Given the description of an element on the screen output the (x, y) to click on. 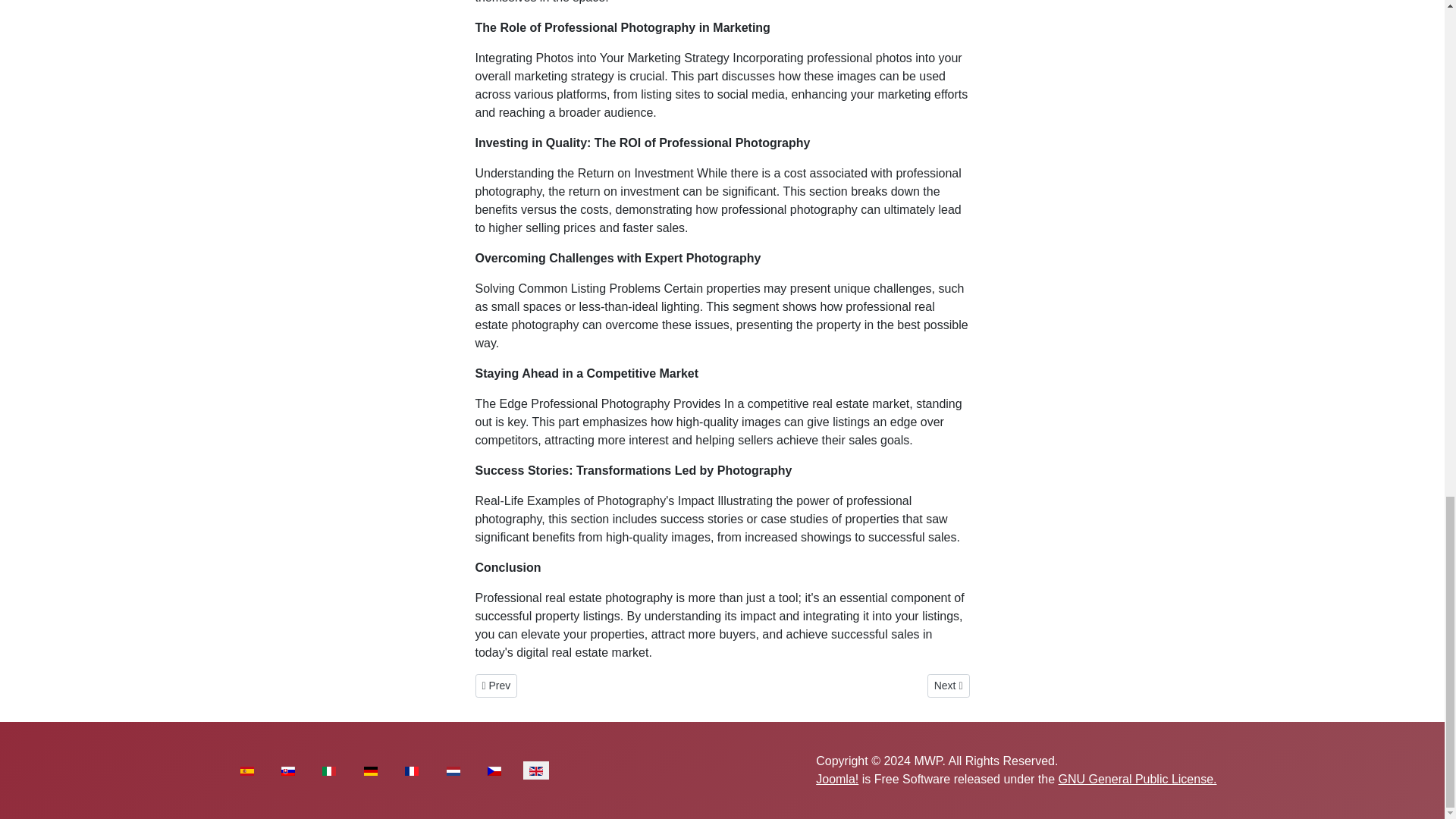
GNU General Public License. (1137, 779)
Joomla! (837, 779)
